Given the description of an element on the screen output the (x, y) to click on. 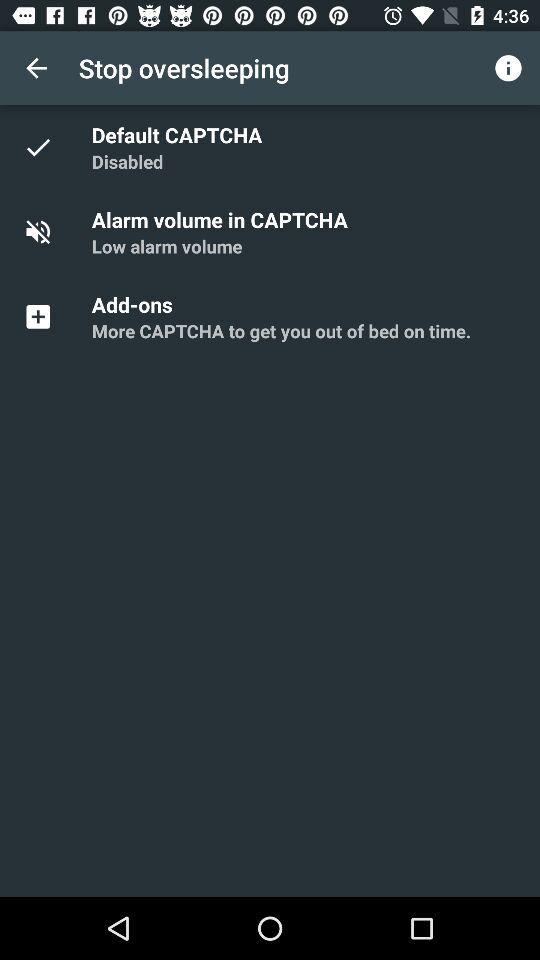
click the item to the left of the stop oversleeping item (36, 68)
